Given the description of an element on the screen output the (x, y) to click on. 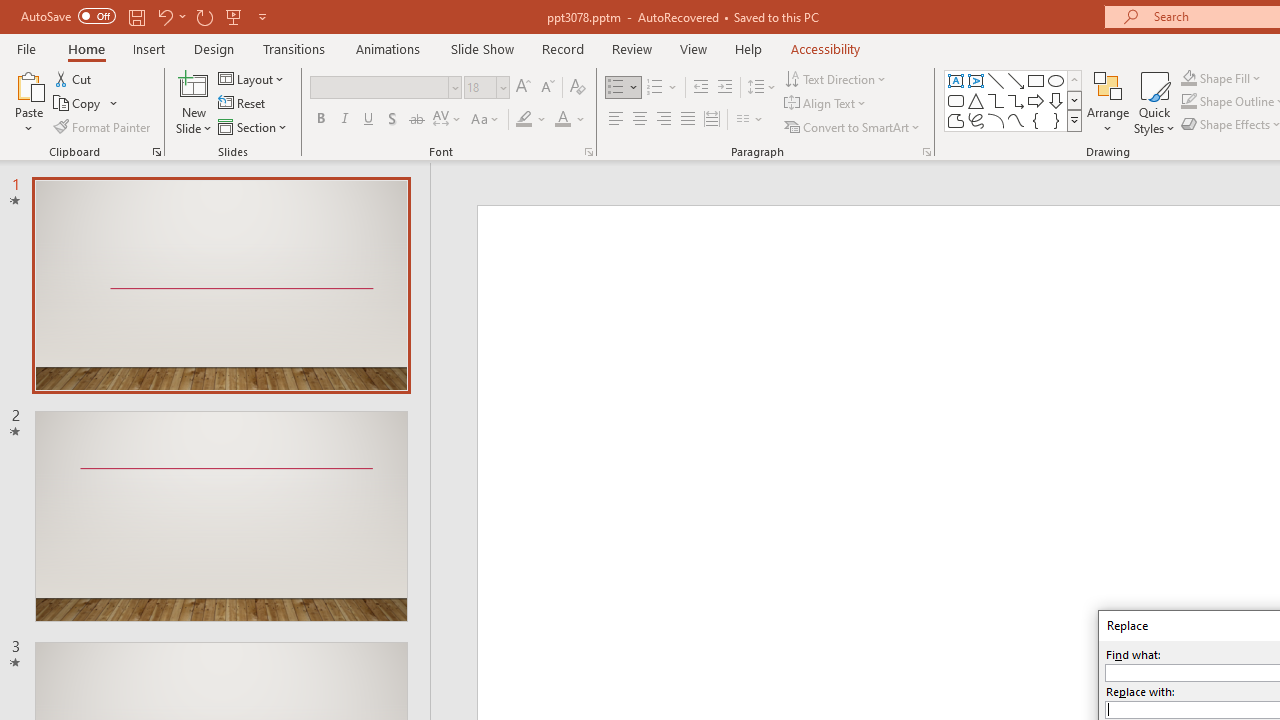
Freeform: Scribble (975, 120)
Copy (78, 103)
AutomationID: ShapesInsertGallery (1014, 100)
Arrow: Down (1055, 100)
Justify (687, 119)
Text Highlight Color (531, 119)
Convert to SmartArt (853, 126)
Font... (588, 151)
Right Brace (1055, 120)
Shapes (1074, 120)
Line Spacing (762, 87)
Shadow (392, 119)
Font (385, 87)
